Given the description of an element on the screen output the (x, y) to click on. 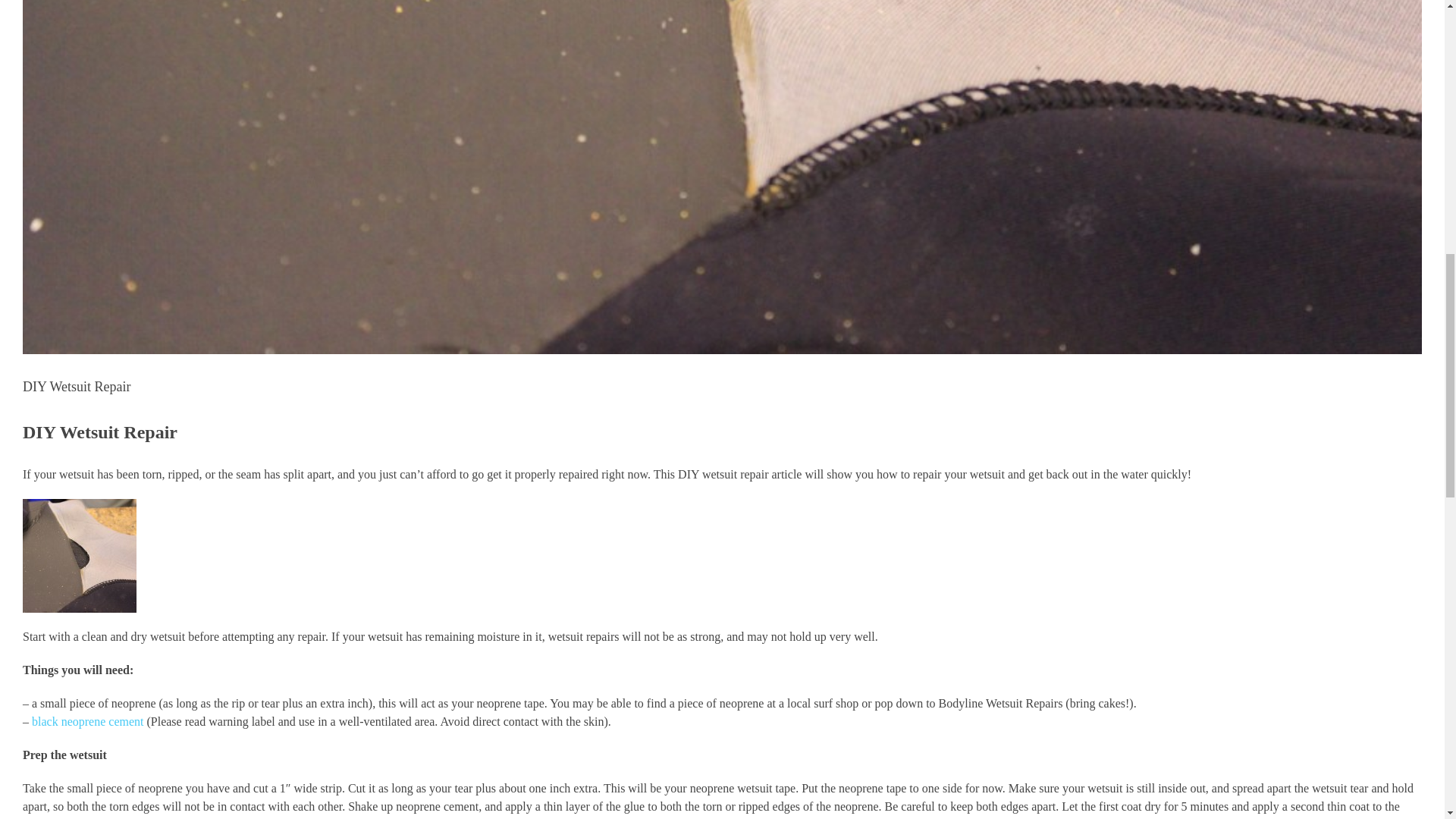
wetsuit repair kit (87, 721)
black neoprene cement (87, 721)
wetsuit repair rip (79, 555)
